Given the description of an element on the screen output the (x, y) to click on. 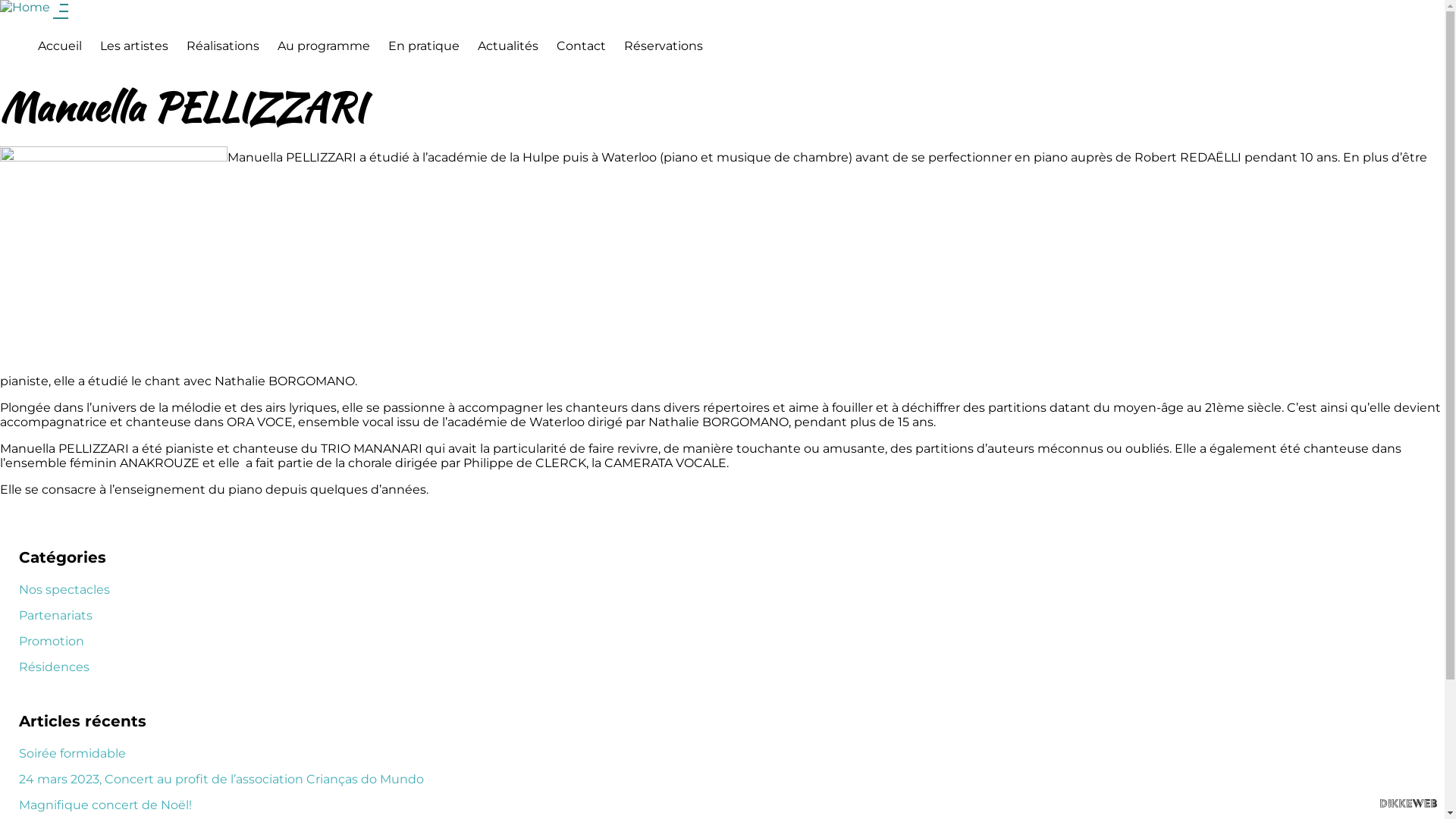
Promotion Element type: text (51, 640)
Les artistes Element type: text (134, 45)
Accueil Element type: text (59, 45)
Partenariats Element type: text (55, 615)
En pratique Element type: text (423, 45)
Au programme Element type: text (323, 45)
Nos spectacles Element type: text (63, 589)
DIKKEWEB - La nouvelle fabrique de site internet Element type: hover (1408, 803)
Contact Element type: text (580, 45)
3 Voices 4 Hands Element type: text (26, 7)
